Given the description of an element on the screen output the (x, y) to click on. 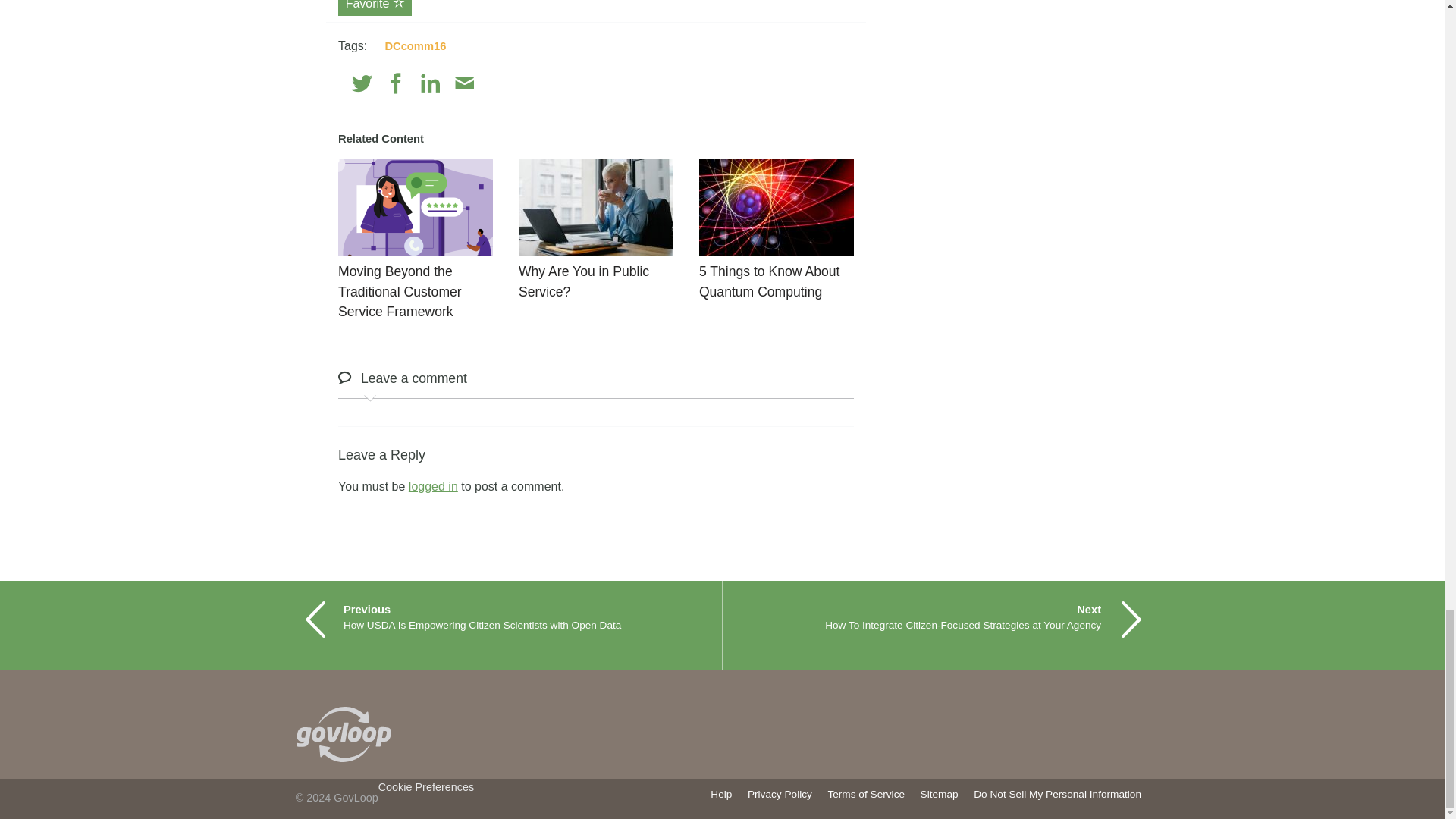
Twitter (362, 83)
Linkedin (430, 83)
Print (497, 83)
Facebook (395, 83)
Email (464, 83)
